Given the description of an element on the screen output the (x, y) to click on. 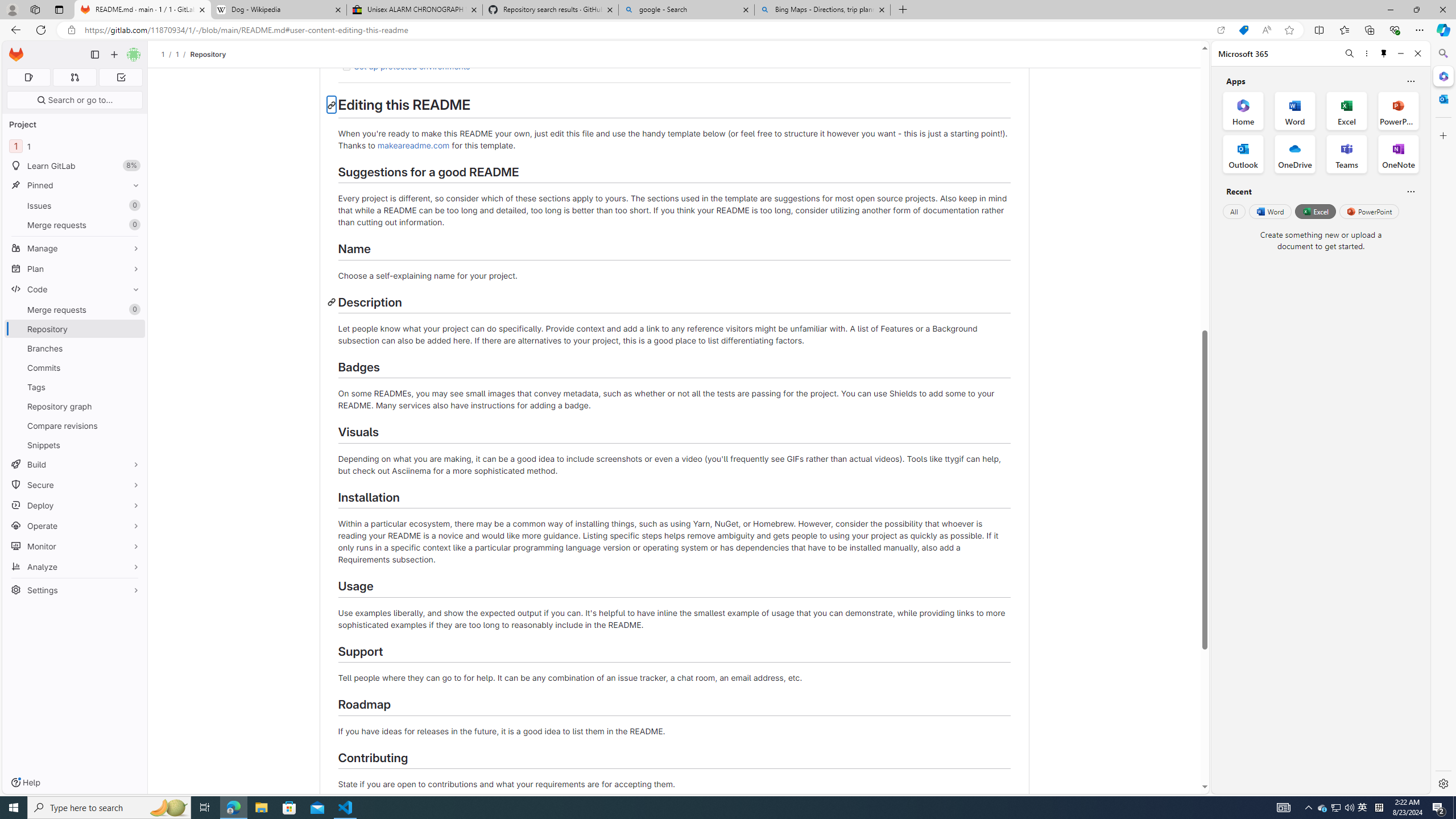
OneNote Office App (1398, 154)
